Given the description of an element on the screen output the (x, y) to click on. 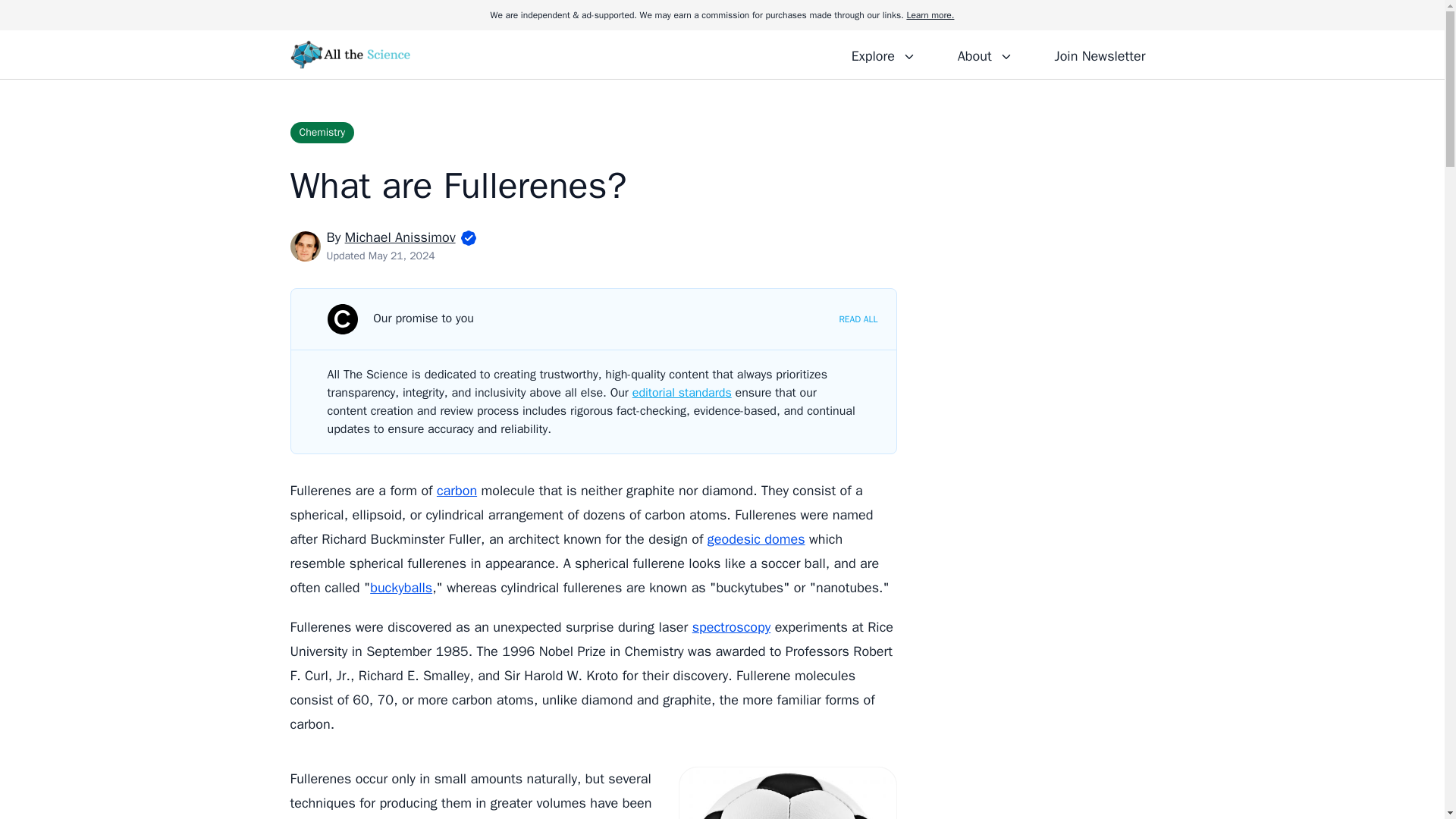
spectroscopy (732, 627)
Chemistry (321, 132)
Learn more. (929, 15)
buckyballs (400, 587)
geodesic domes (756, 538)
READ ALL (857, 318)
carbon (456, 490)
Michael Anissimov (400, 237)
editorial standards (681, 393)
About (984, 54)
Explore (883, 54)
Join Newsletter (1099, 54)
